Given the description of an element on the screen output the (x, y) to click on. 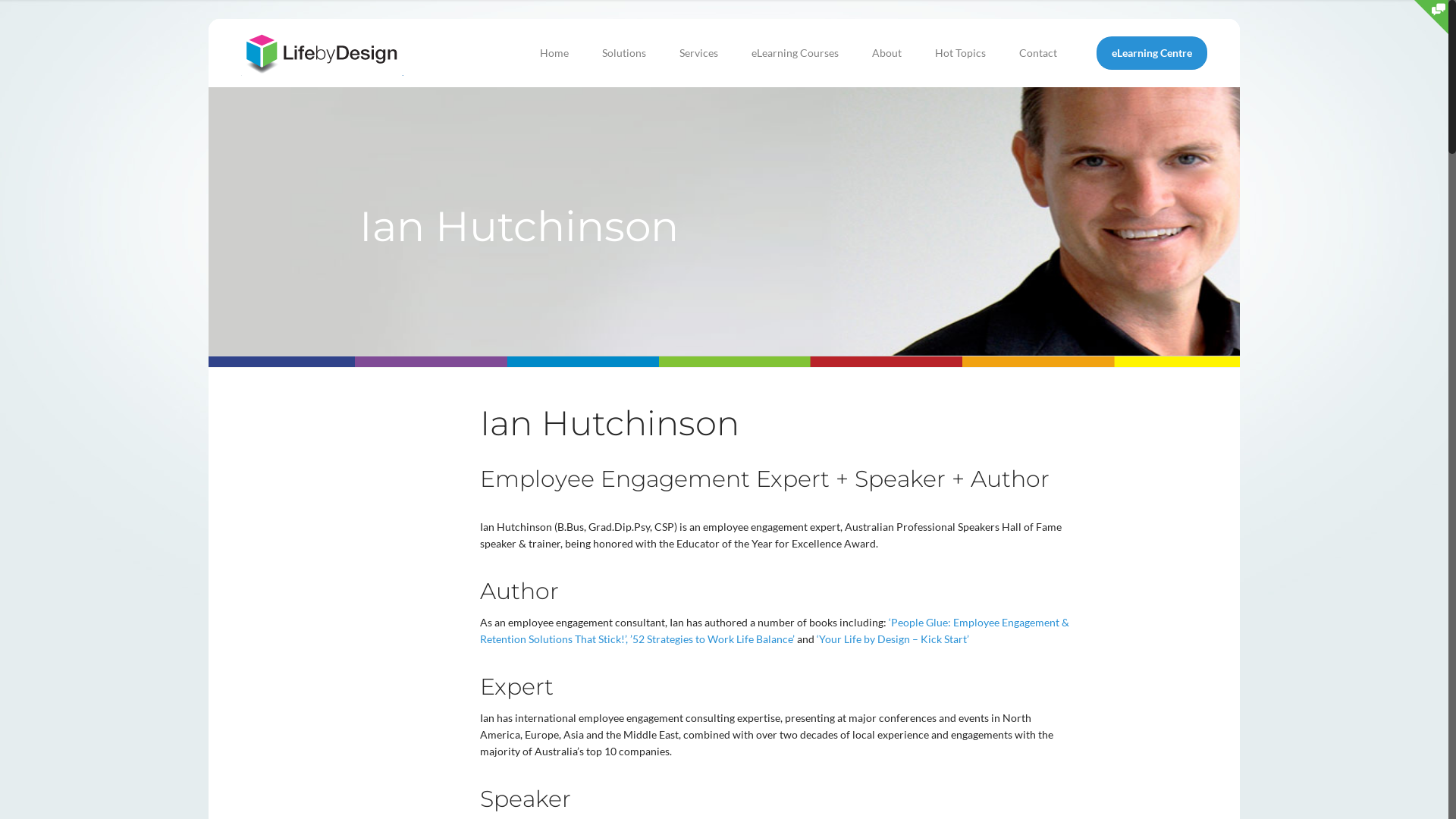
Solutions Element type: text (623, 53)
eLearning Centre Element type: text (1151, 52)
Home Element type: text (553, 53)
Services Element type: text (698, 53)
eLearning Courses Element type: text (794, 53)
About Element type: text (886, 53)
Hot Topics Element type: text (960, 53)
Contact Element type: text (1038, 53)
Life by Design Element type: hover (322, 52)
